Given the description of an element on the screen output the (x, y) to click on. 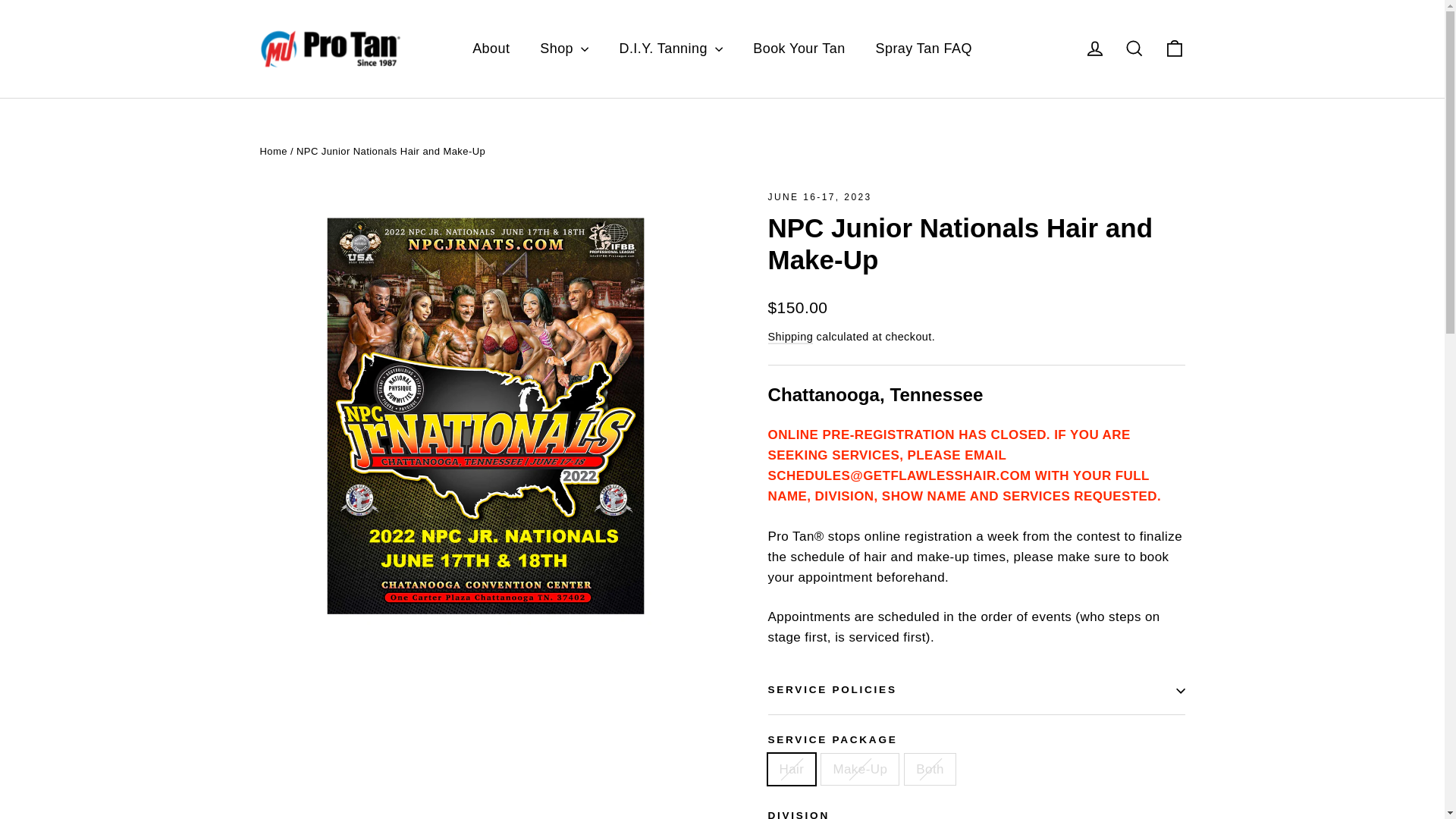
June 16-17, 2023 (818, 196)
Back to the frontpage (272, 151)
account (1094, 47)
About (490, 48)
icon-bag-minimal (1174, 47)
icon-search (1134, 47)
